Given the description of an element on the screen output the (x, y) to click on. 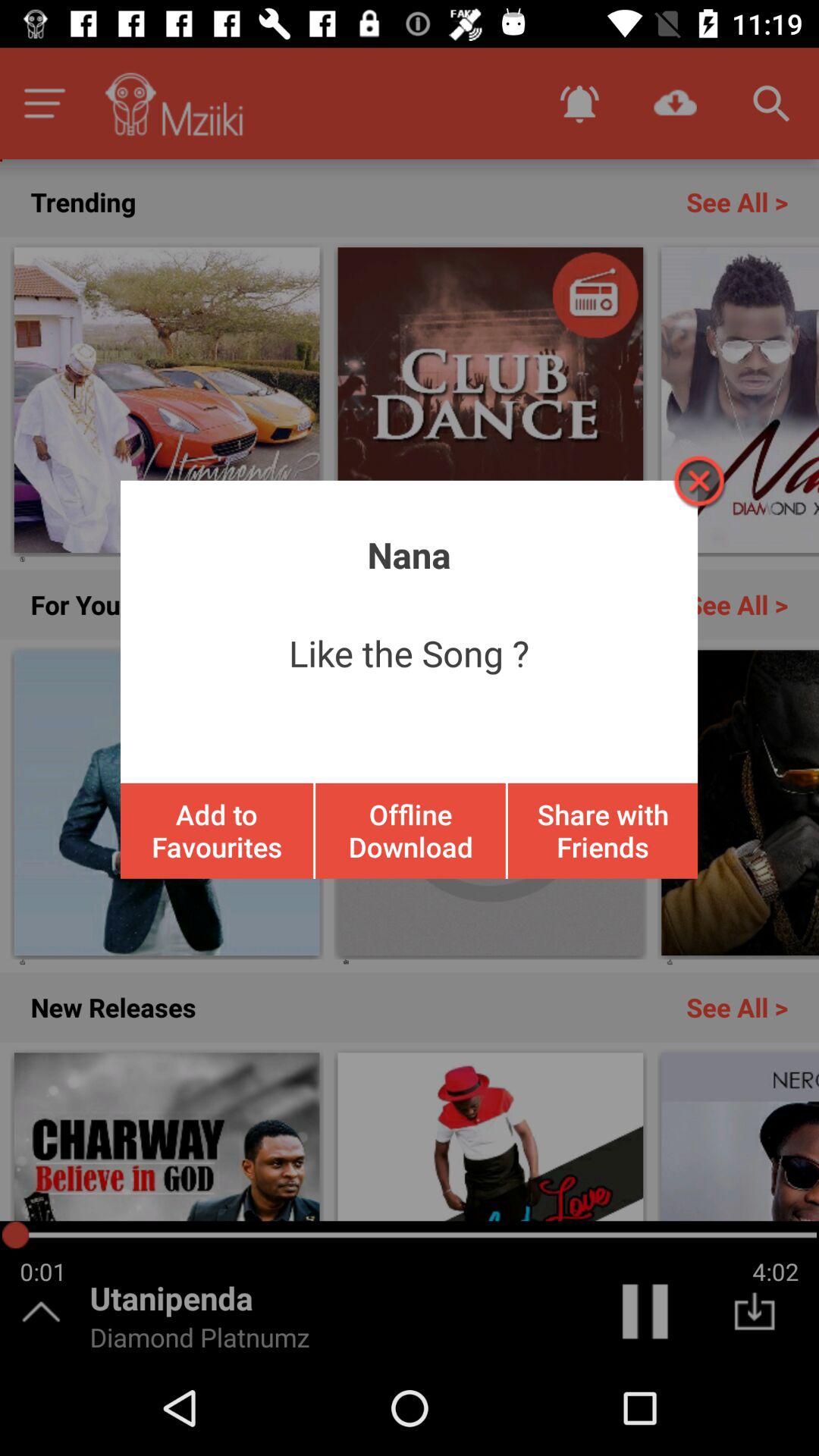
choose icon next to offline download (602, 830)
